Given the description of an element on the screen output the (x, y) to click on. 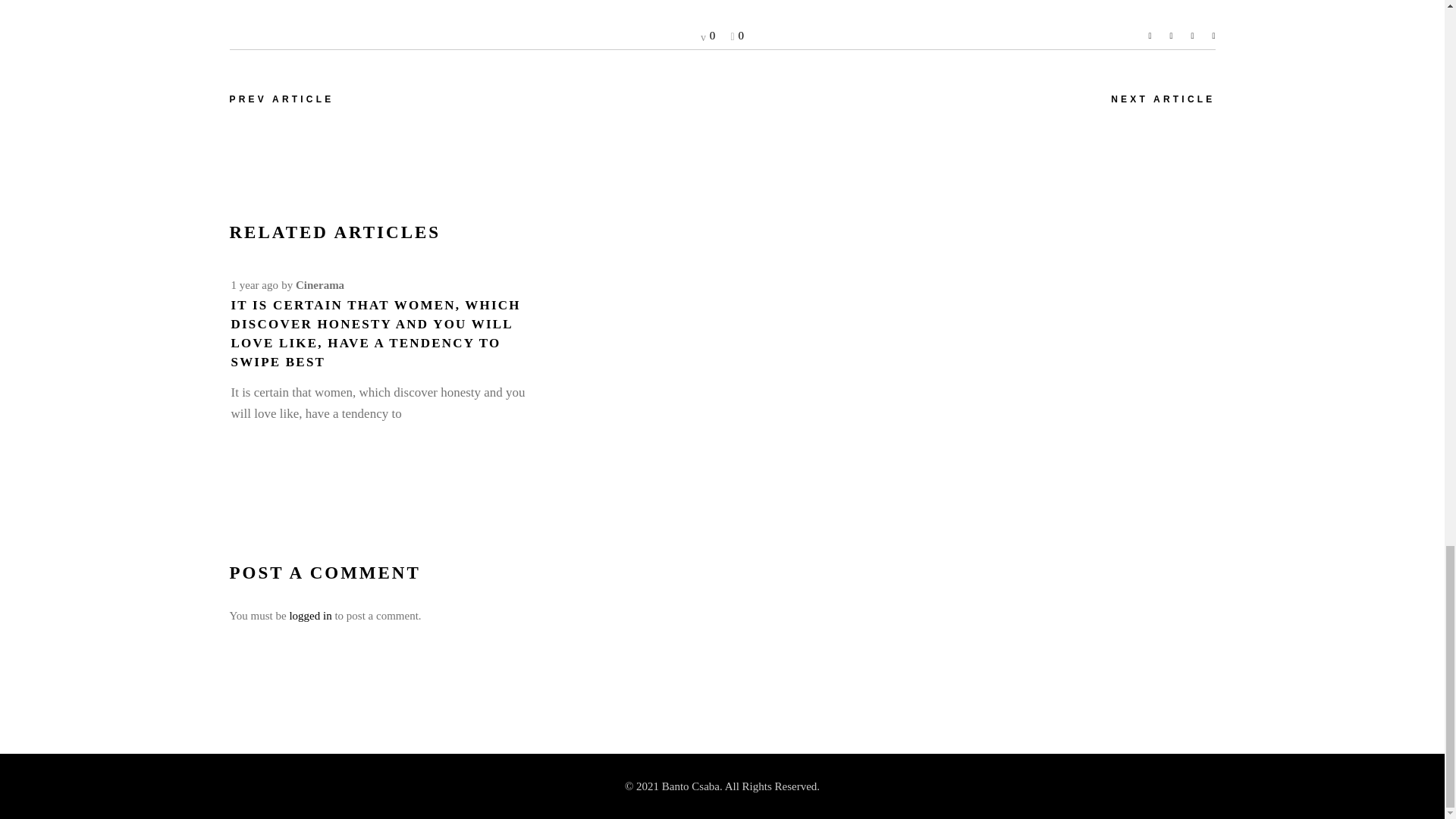
NEXT ARTICLE (1162, 99)
PREV ARTICLE (280, 99)
logged in (309, 615)
Like this (737, 35)
0 (737, 35)
Cinerama (319, 285)
0 (707, 35)
